Given the description of an element on the screen output the (x, y) to click on. 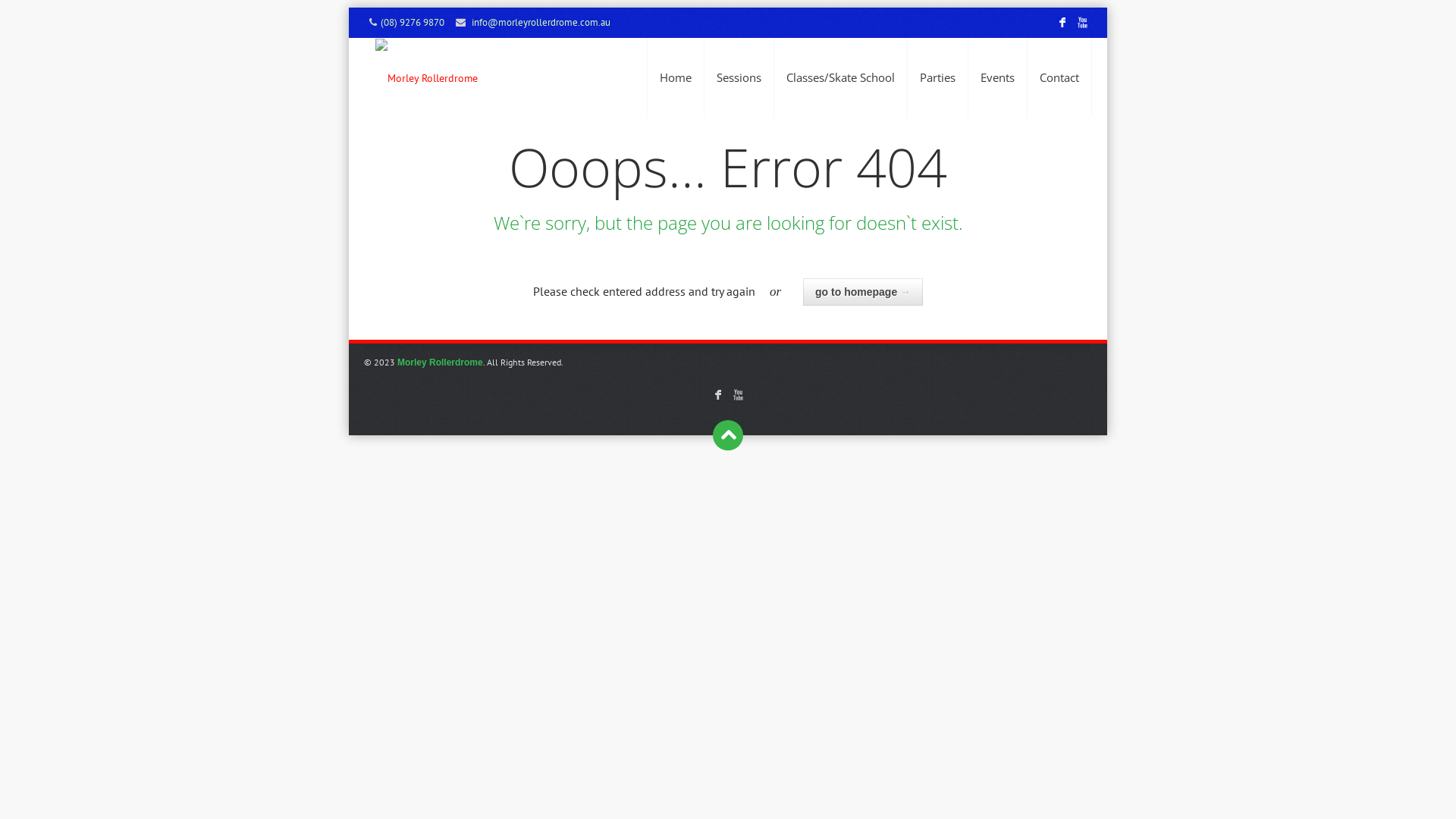
X Element type: text (738, 394)
info@morleyrollerdrome.com.au Element type: text (540, 21)
Sessions Element type: text (738, 77)
Contact Element type: text (1059, 77)
Parties Element type: text (937, 77)
X Element type: text (1082, 22)
F Element type: text (1062, 22)
Morley Rollerdrome Element type: hover (426, 77)
F Element type: text (717, 394)
Classes/Skate School Element type: text (840, 77)
Home Element type: text (675, 77)
Events Element type: text (997, 77)
(08) 9276 9870 Element type: text (412, 21)
